Given the description of an element on the screen output the (x, y) to click on. 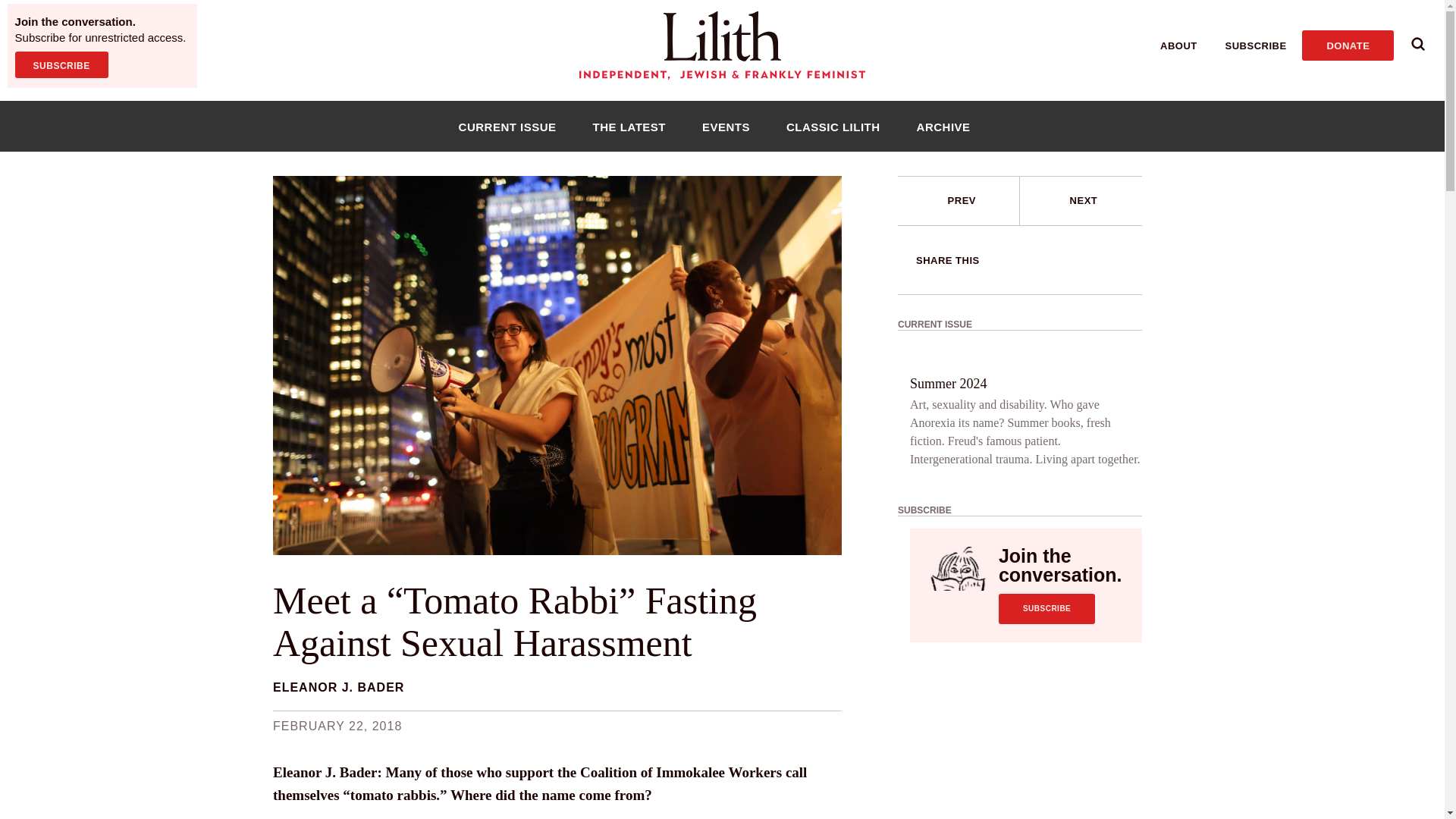
Posts by Eleanor J. Bader (338, 686)
SUBSCRIBE (1255, 45)
ABOUT (1178, 45)
ARCHIVE (943, 126)
DONATE (1347, 45)
CURRENT ISSUE (507, 126)
NEXT (1083, 200)
PREV (959, 200)
NEXT (1080, 200)
SUBSCRIBE (1046, 608)
